Given the description of an element on the screen output the (x, y) to click on. 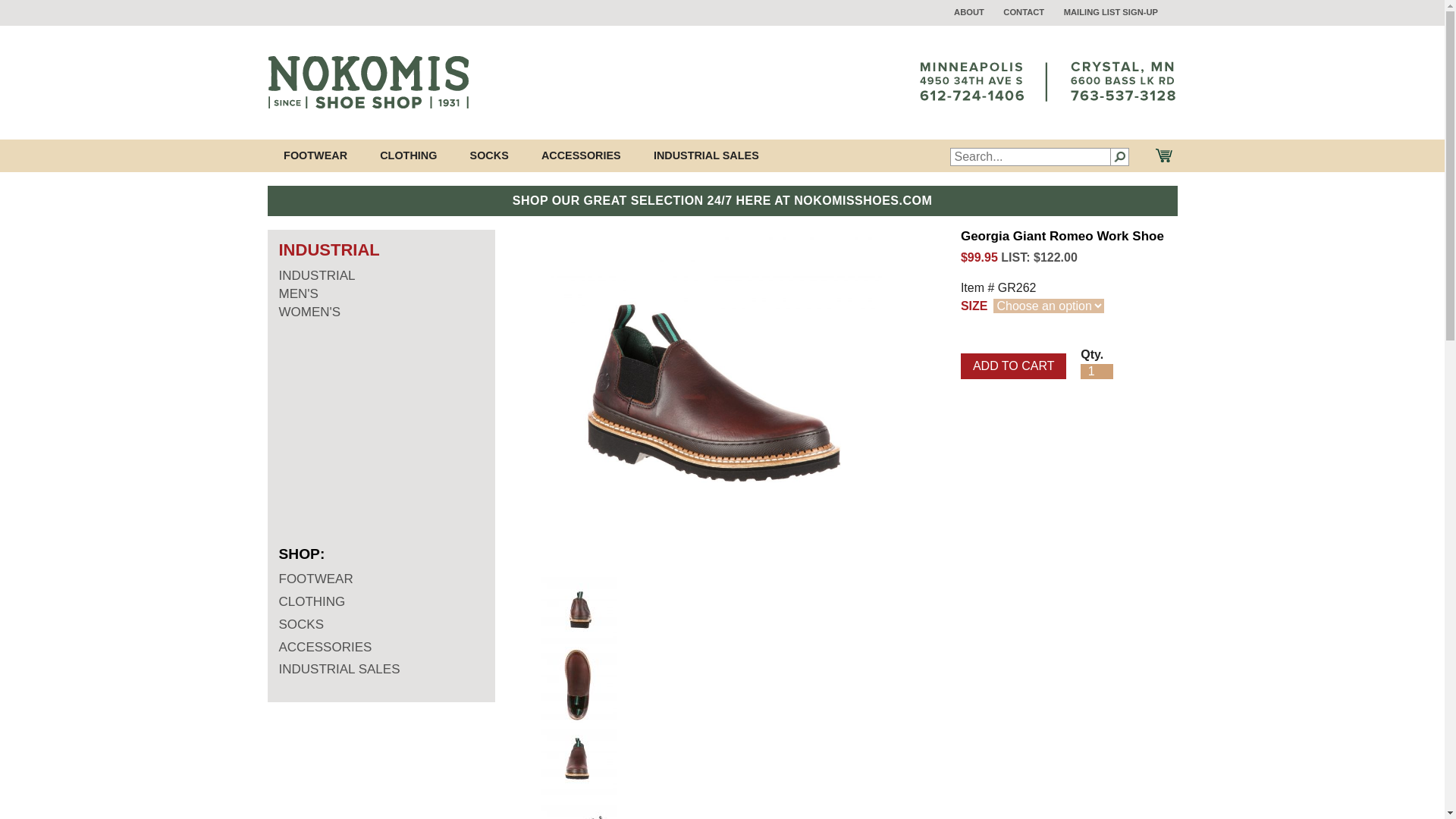
Search (1118, 157)
CONTACT (1023, 11)
Nokomis Shoes (366, 82)
CLOTHING (408, 155)
GR262 (710, 400)
ABOUT (968, 11)
NOKOMIS SHOES (366, 82)
1 (1096, 371)
FOOTWEAR (314, 155)
SOCKS (488, 155)
